Given the description of an element on the screen output the (x, y) to click on. 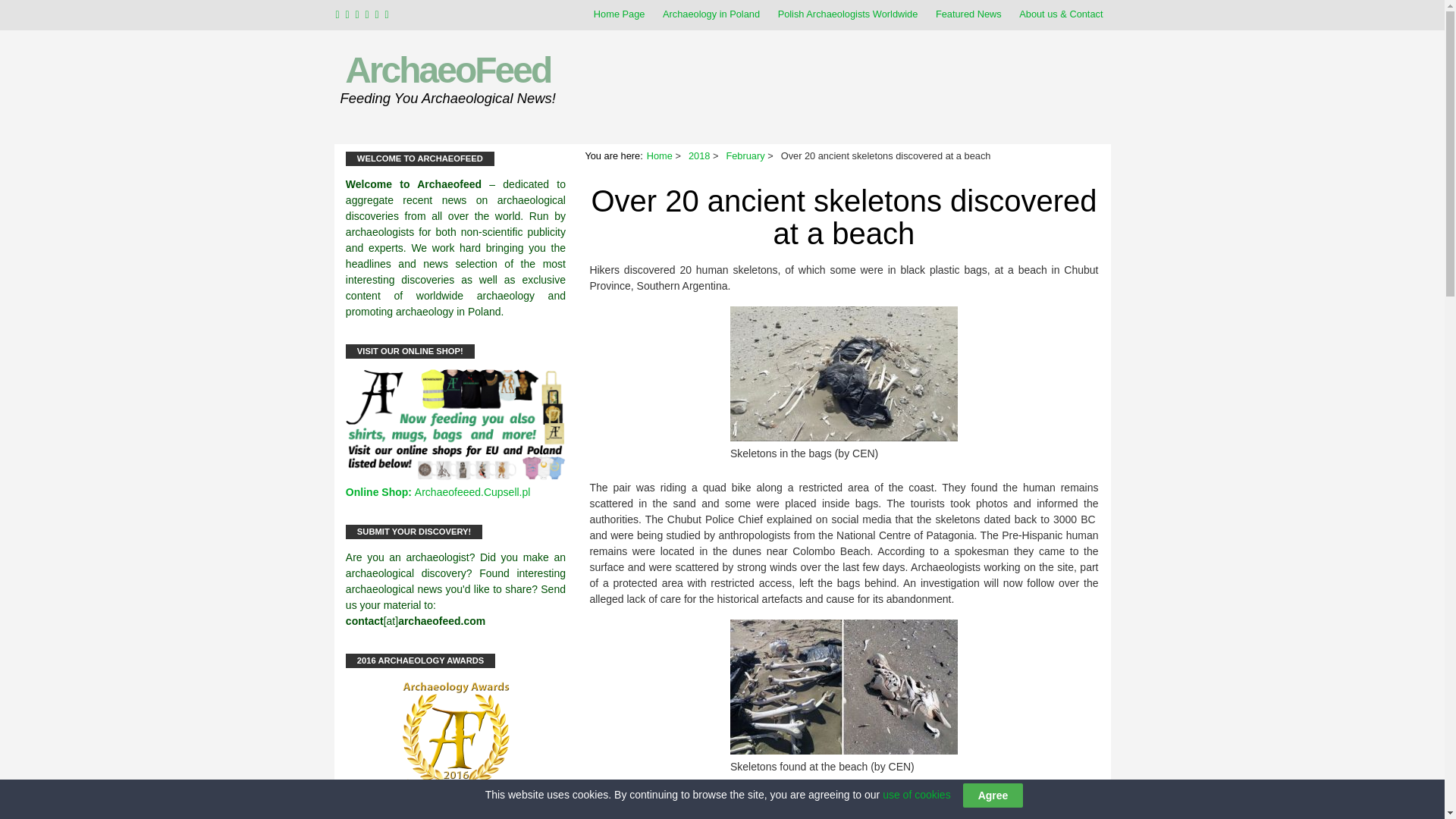
Visit our online shop! (456, 476)
February (744, 155)
Home (659, 155)
Home Page (619, 13)
2016 Archaeology Awards (456, 735)
Archaeology in Poland (711, 13)
ArchaeoFeed (447, 69)
Featured News (968, 13)
Polish Archaeologists Worldwide (848, 13)
2018 (699, 155)
